Given the description of an element on the screen output the (x, y) to click on. 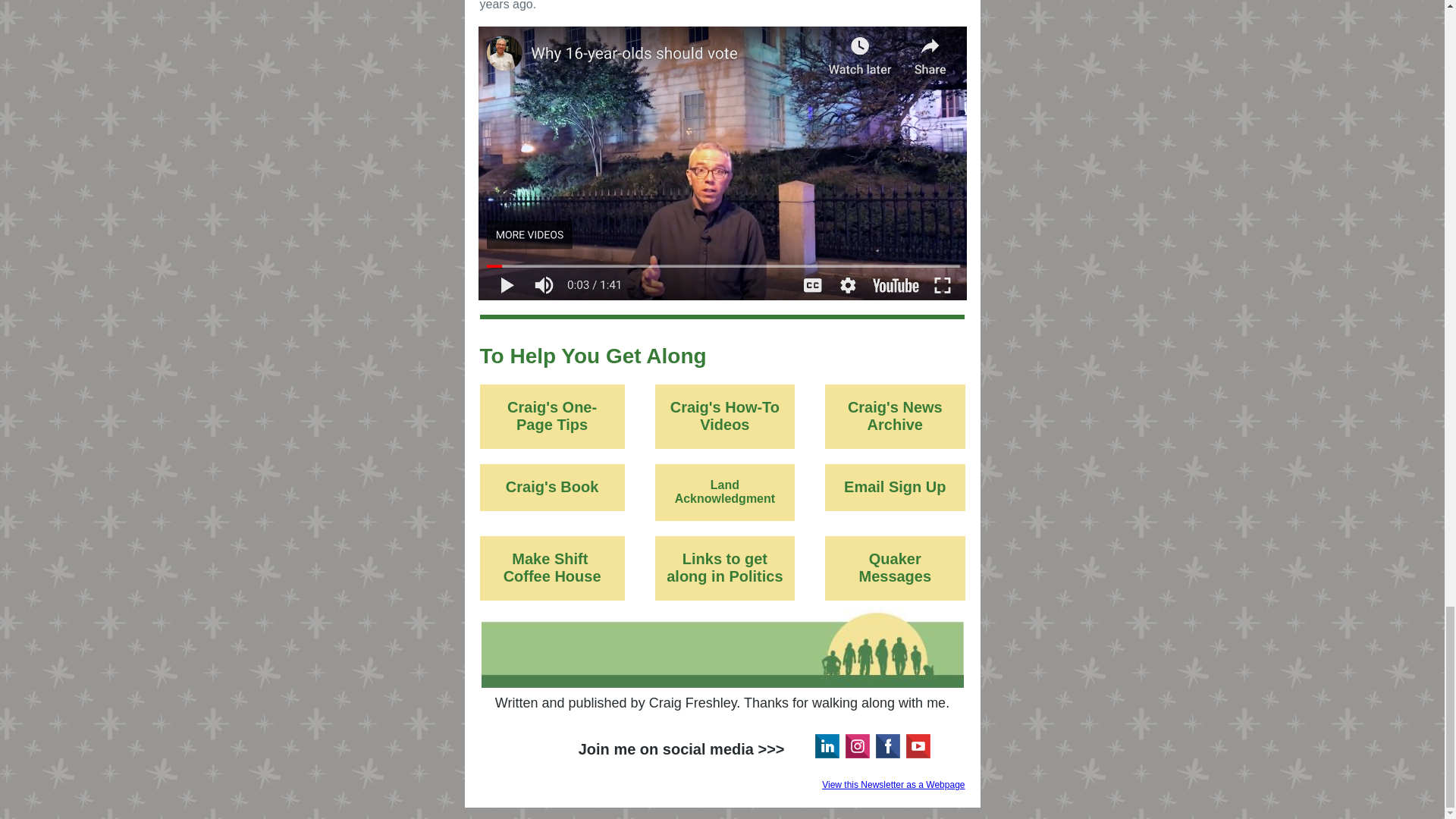
Craig's How-To Videos (724, 416)
View this Newsletter as a Webpage (892, 784)
Land Acknowledgment (724, 492)
Email Sign Up (894, 487)
Make Shift  Coffee House (552, 567)
Craig's News Archive (894, 416)
Links to get along in Politics (724, 567)
Craig's Book (552, 487)
Craig's One-Page Tips (552, 416)
Quaker Messages (894, 567)
